Given the description of an element on the screen output the (x, y) to click on. 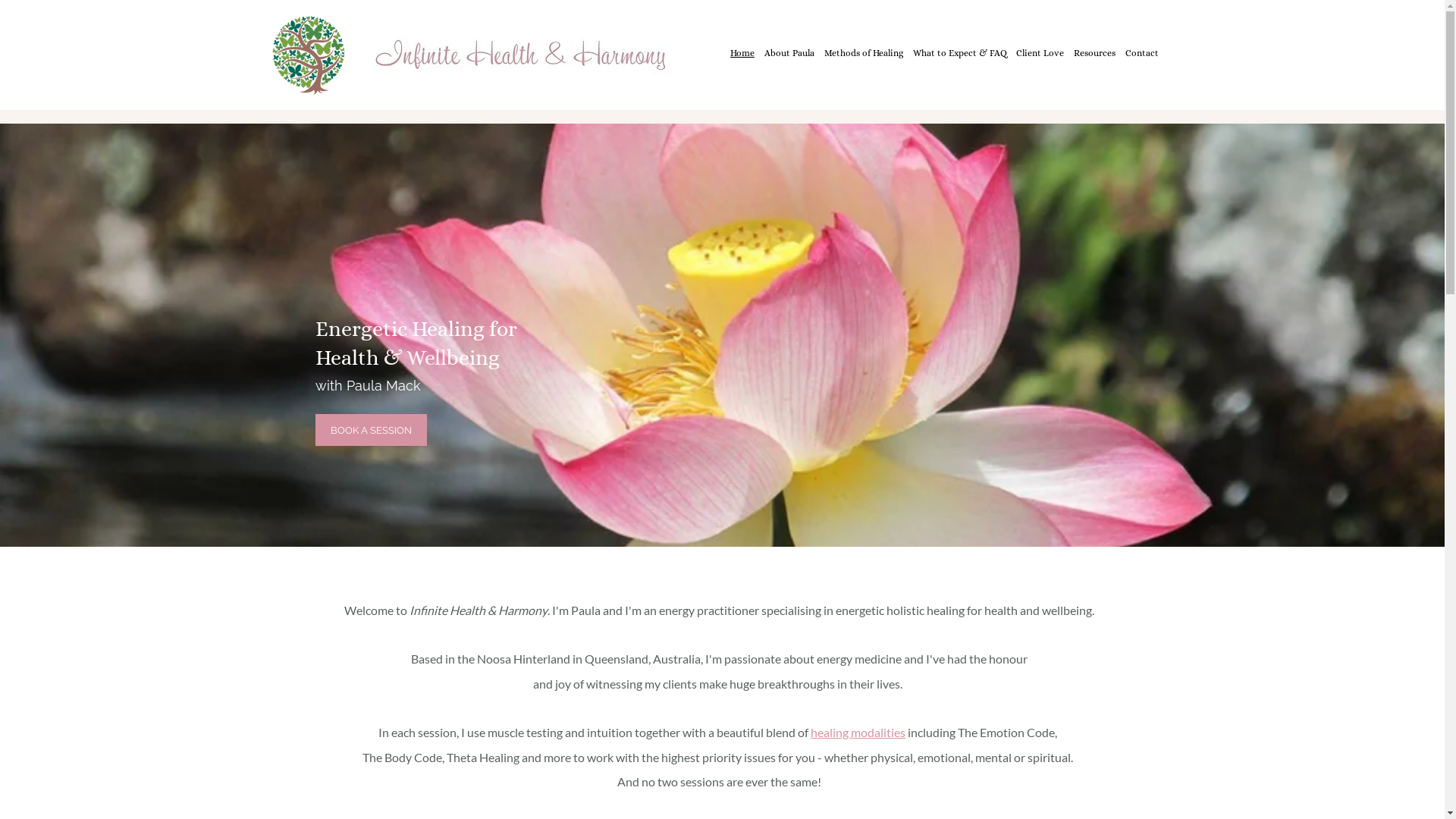
BOOK A SESSION Element type: text (370, 429)
Methods of Healing Element type: text (863, 52)
Client Love Element type: text (1040, 52)
Resources Element type: text (1094, 52)
Contact Element type: text (1142, 52)
What to Expect & FAQ Element type: text (959, 52)
About Paula Element type: text (789, 52)
healing modalities Element type: text (857, 731)
Home Element type: text (741, 52)
